Given the description of an element on the screen output the (x, y) to click on. 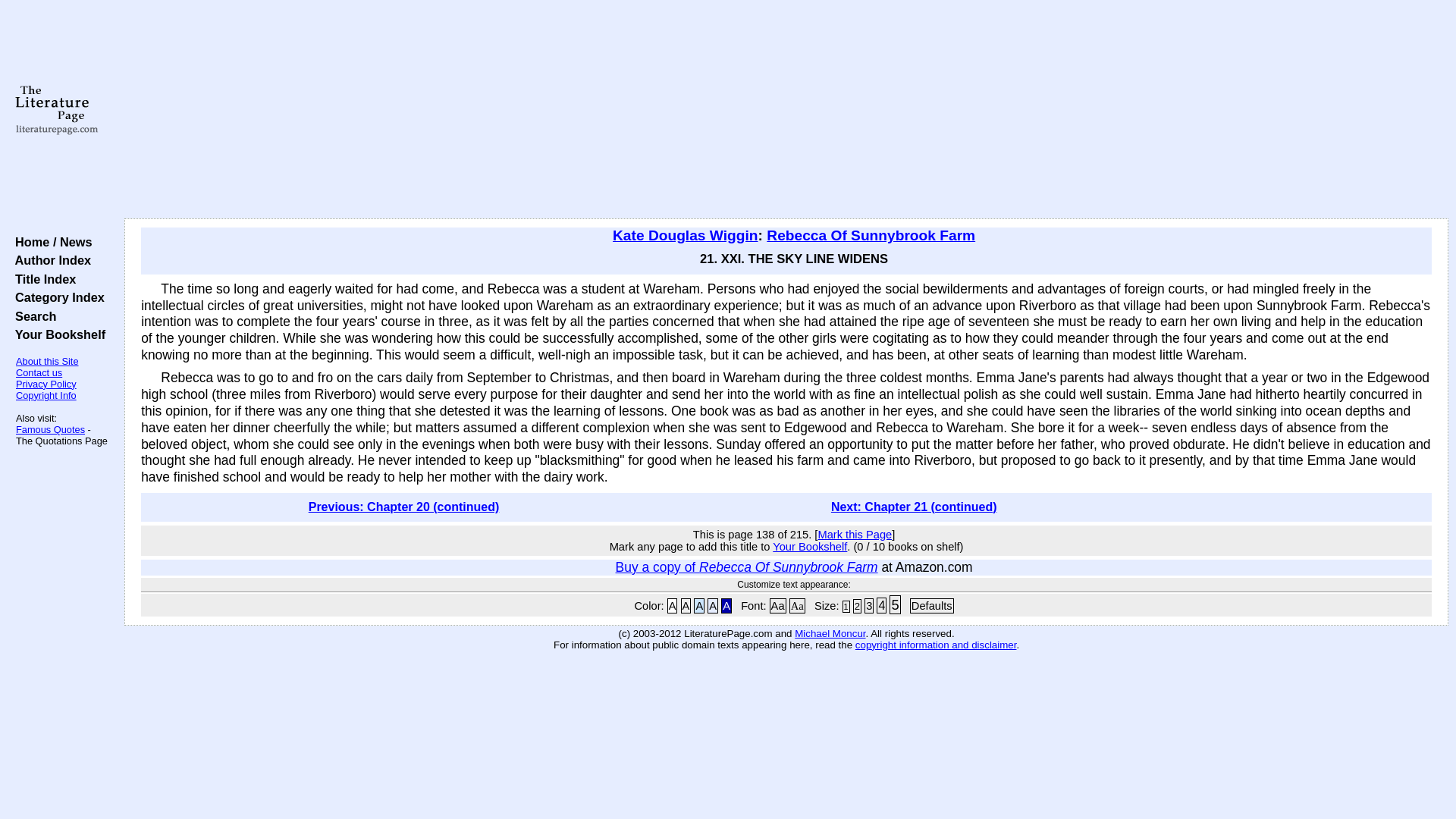
Aa (797, 605)
Color 5 (726, 605)
About this Site (47, 360)
Color 3 (699, 605)
Size 5 (894, 604)
Privacy Policy (46, 383)
A (699, 605)
Aa (778, 605)
Rebecca Of Sunnybrook Farm (871, 235)
Reset to Defaults (931, 605)
  Category Index (56, 296)
Contact us (39, 372)
  Search (32, 315)
2 (857, 605)
Size 2 (857, 605)
